Given the description of an element on the screen output the (x, y) to click on. 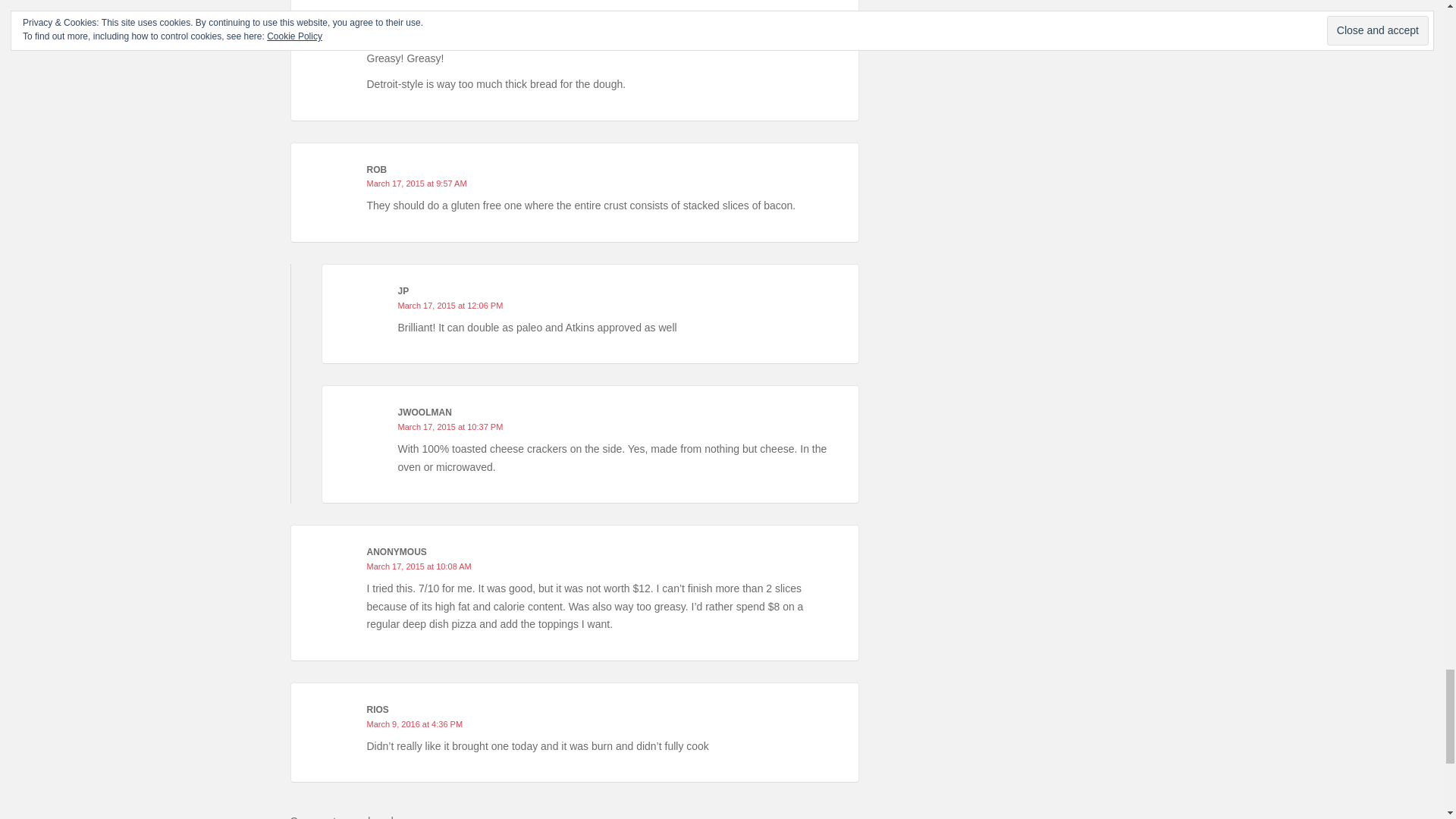
March 17, 2015 at 10:37 PM (449, 426)
March 17, 2015 at 9:37 AM (416, 35)
March 17, 2015 at 9:57 AM (416, 183)
March 9, 2016 at 4:36 PM (414, 723)
March 17, 2015 at 10:08 AM (418, 565)
March 17, 2015 at 12:06 PM (449, 305)
